Given the description of an element on the screen output the (x, y) to click on. 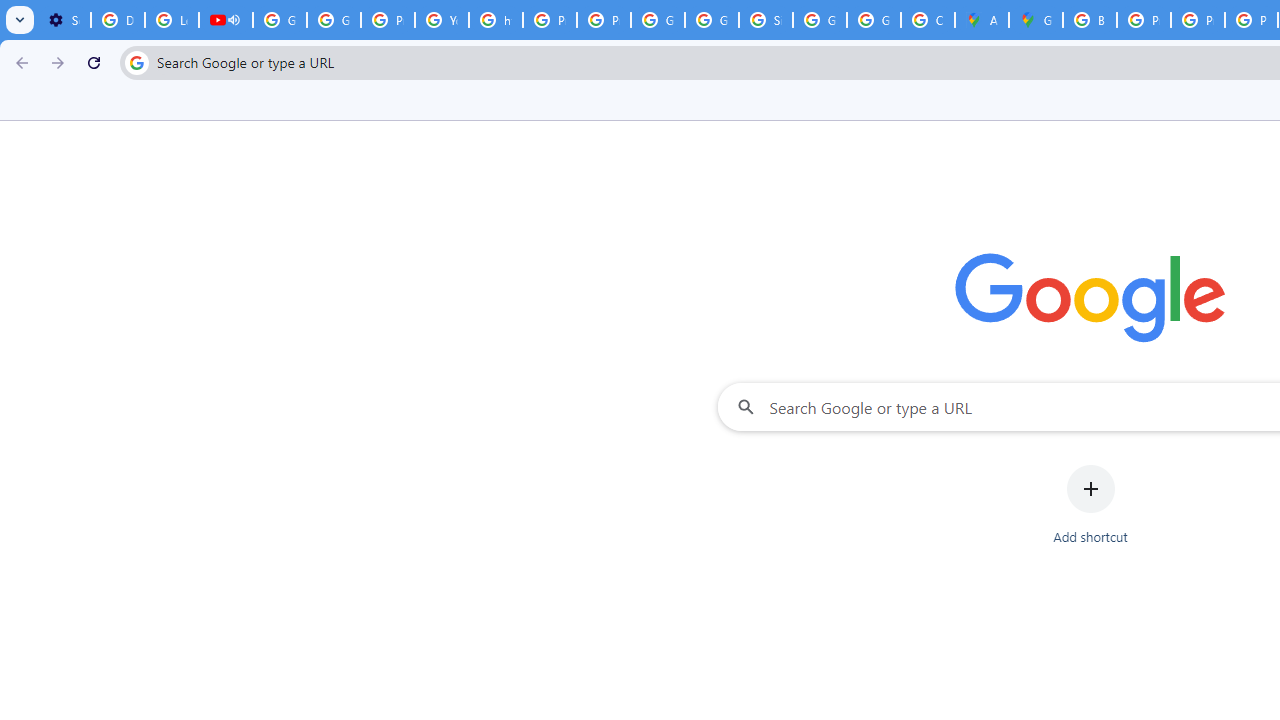
Sign in - Google Accounts (765, 20)
Privacy Help Center - Policies Help (1144, 20)
Google Account Help (280, 20)
Privacy Help Center - Policies Help (550, 20)
Delete photos & videos - Computer - Google Photos Help (117, 20)
Create your Google Account (927, 20)
Blogger Policies and Guidelines - Transparency Center (1089, 20)
